Given the description of an element on the screen output the (x, y) to click on. 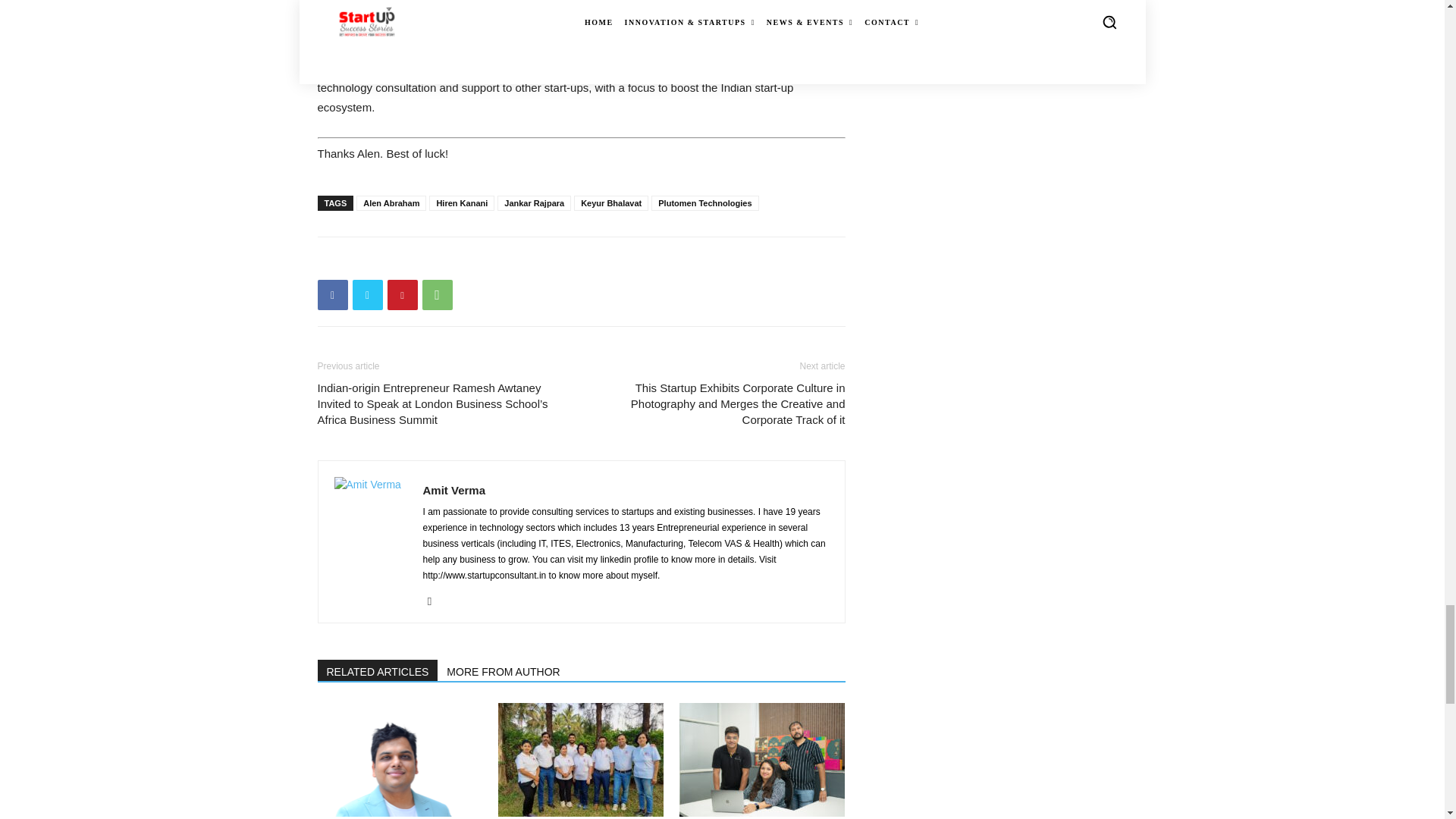
bottomFacebookLike (430, 261)
WhatsApp (436, 295)
Pinterest (401, 295)
Facebook (332, 295)
Twitter (366, 295)
